Given the description of an element on the screen output the (x, y) to click on. 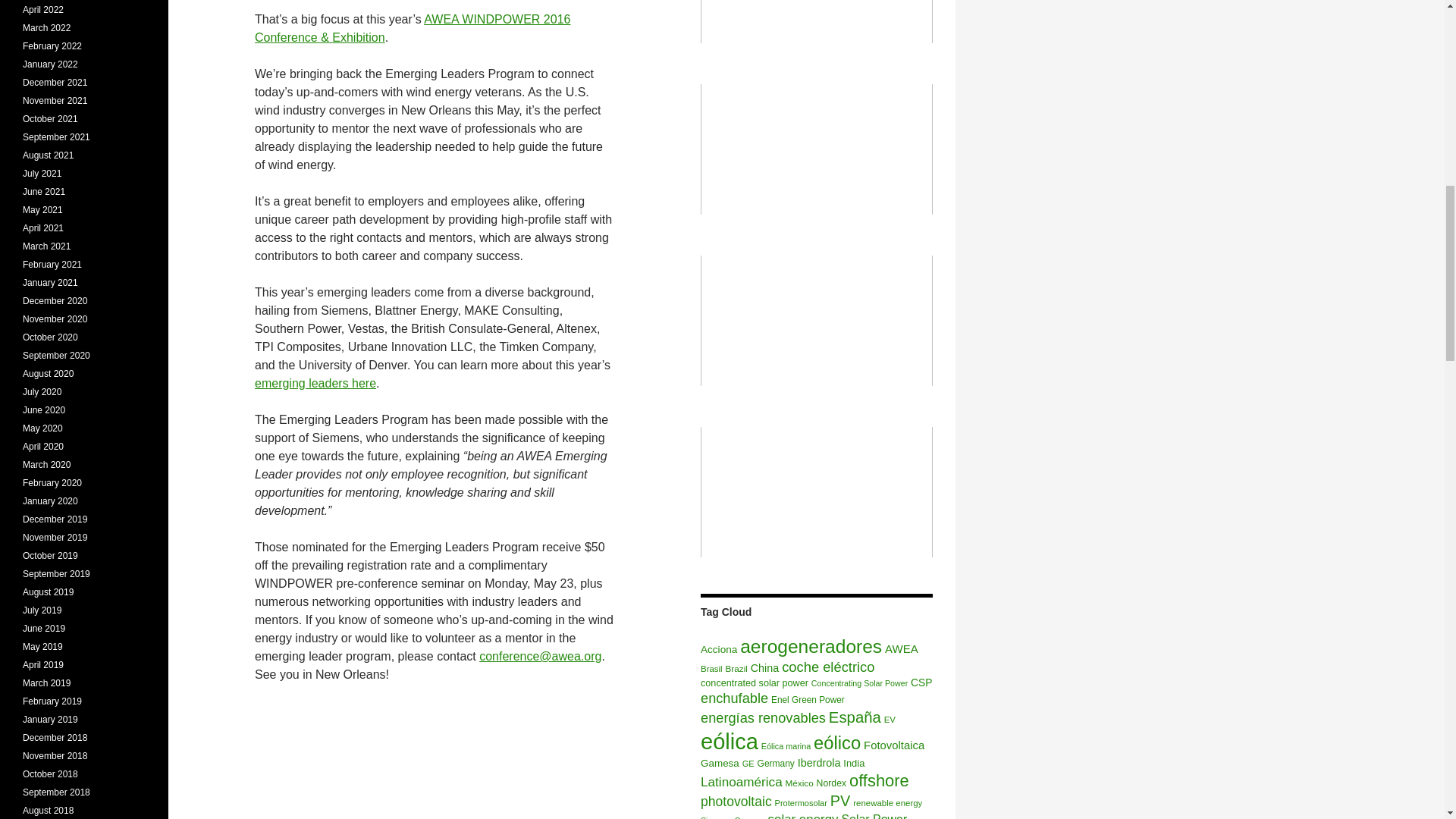
emerging leaders here (314, 382)
